Given the description of an element on the screen output the (x, y) to click on. 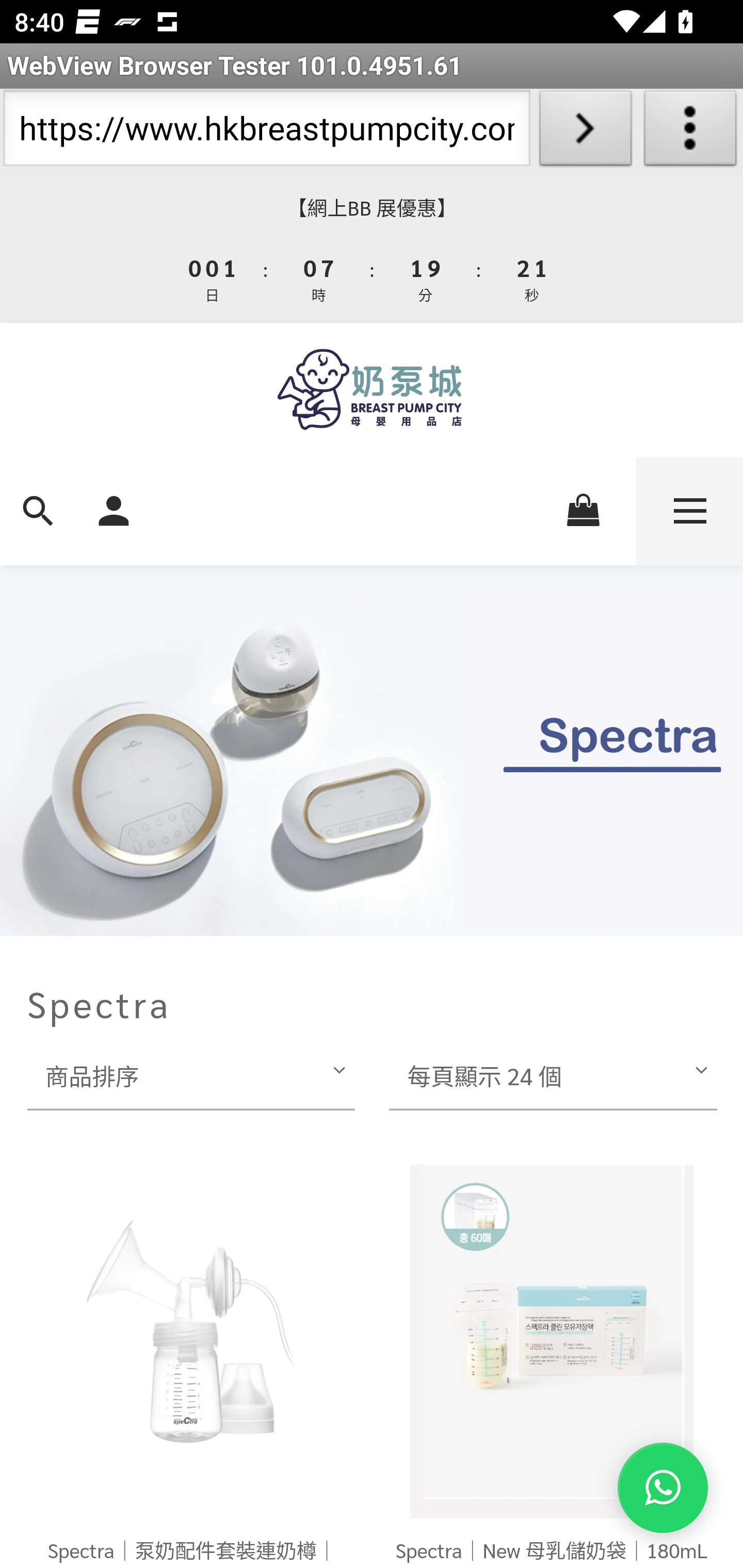
Load URL (585, 132)
About WebView (690, 132)
【網上BB 展優惠】 (371, 208)
594x (371, 389)
sign_in (113, 508)
Spectra (371, 997)
商品排序 (190, 1074)
每頁顯示 24 個 (552, 1074)
Spectra｜泵奶配件套裝連奶樽｜28mm (192, 1340)
Spectra｜New 母乳儲奶袋｜180mL｜30個裝 (551, 1340)
Spectra｜泵奶配件套裝連奶樽｜28mm (192, 1551)
Spectra｜New 母乳儲奶袋｜180mL｜30個裝 (551, 1551)
